Given the description of an element on the screen output the (x, y) to click on. 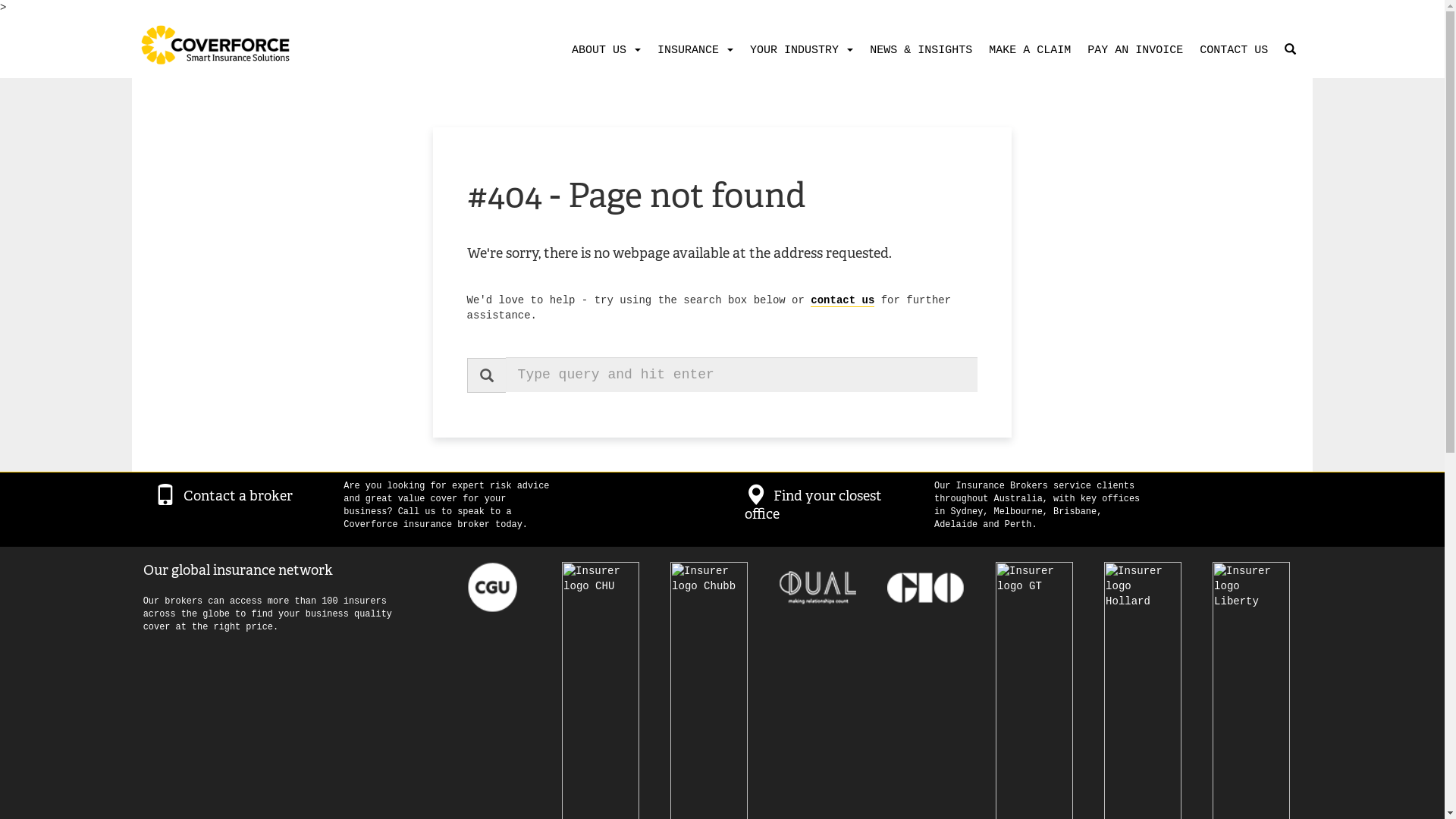
contact us Element type: text (842, 300)
NEWS & INSIGHTS Element type: text (917, 50)
MAKE A CLAIM Element type: text (1026, 50)
Contact a broker Element type: text (237, 495)
PAY AN INVOICE Element type: text (1132, 50)
YOUR INDUSTRY  Element type: text (798, 50)
Find your closest office Element type: text (812, 504)
ABOUT US  Element type: text (603, 50)
CONTACT US Element type: text (1230, 50)
INSURANCE  Element type: text (692, 50)
